Given the description of an element on the screen output the (x, y) to click on. 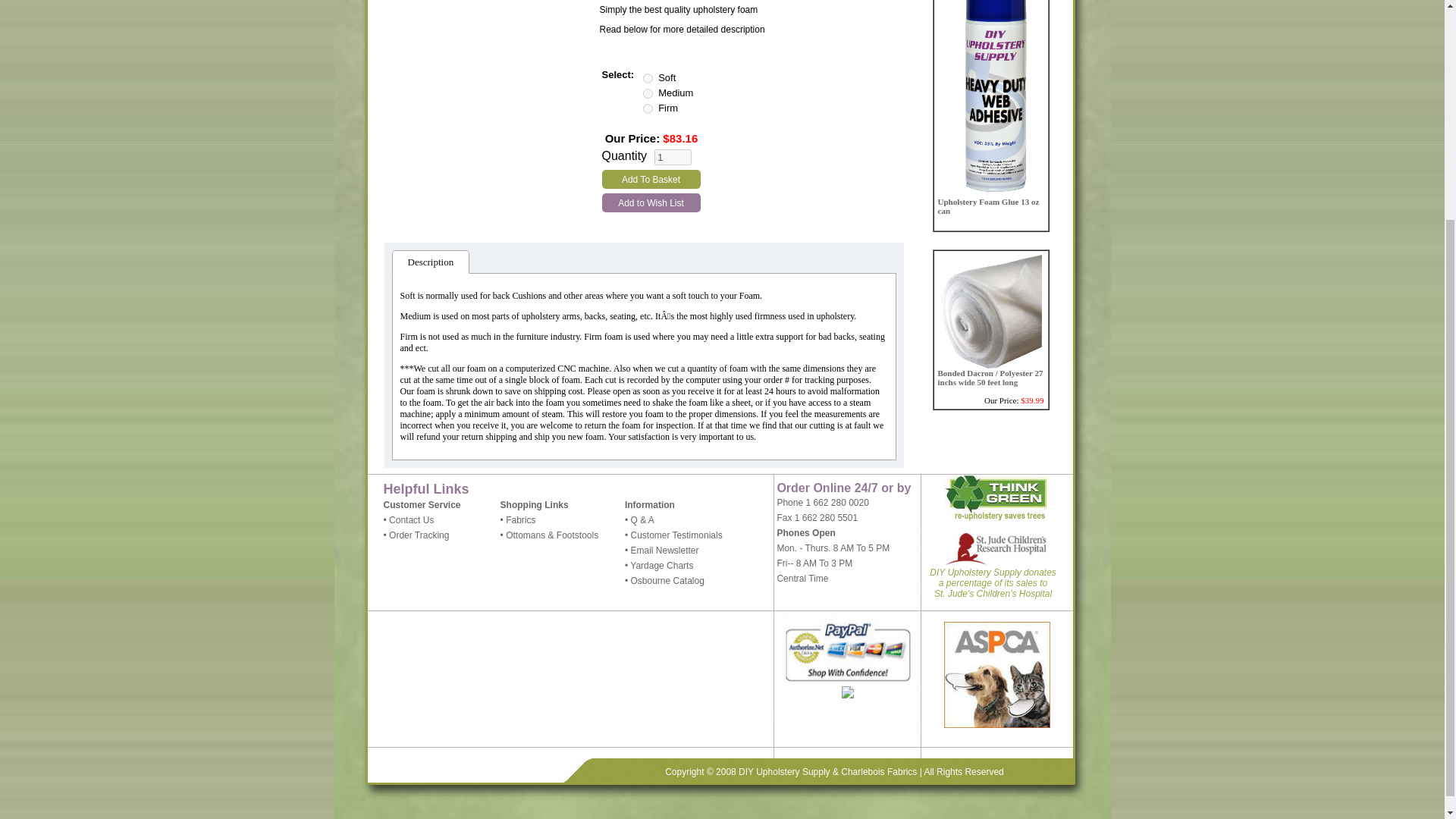
Add To Basket (651, 179)
Firm (647, 108)
Description (430, 261)
Add to Wish List (651, 202)
Contact Us (410, 520)
Fabrics (520, 520)
Order Tracking (418, 534)
Upholstery Foam Glue 13 oz can (988, 206)
1 (672, 157)
Soft (647, 78)
Medium (647, 93)
Add to Wish List (651, 202)
Customer Testimonials (676, 534)
Add To Basket (651, 179)
